Given the description of an element on the screen output the (x, y) to click on. 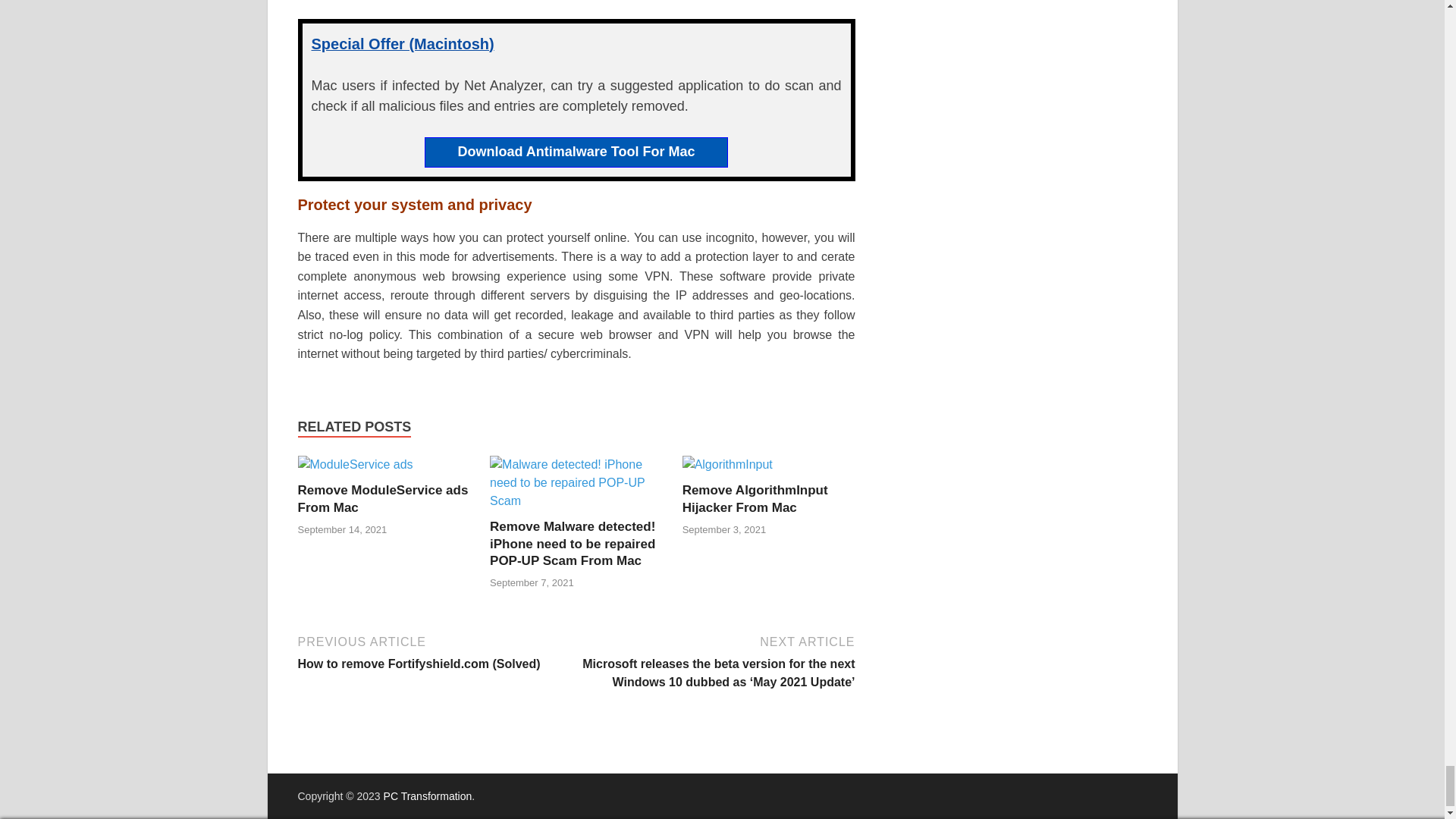
Remove AlgorithmInput Hijacker From Mac (727, 463)
Remove ModuleService ads From Mac (382, 498)
Remove AlgorithmInput Hijacker From Mac (755, 498)
Remove ModuleService ads From Mac (354, 463)
PC Transformation (427, 796)
Remove ModuleService ads From Mac (382, 498)
Remove AlgorithmInput Hijacker From Mac (755, 498)
Download Antimalware Tool For Mac (575, 151)
